Given the description of an element on the screen output the (x, y) to click on. 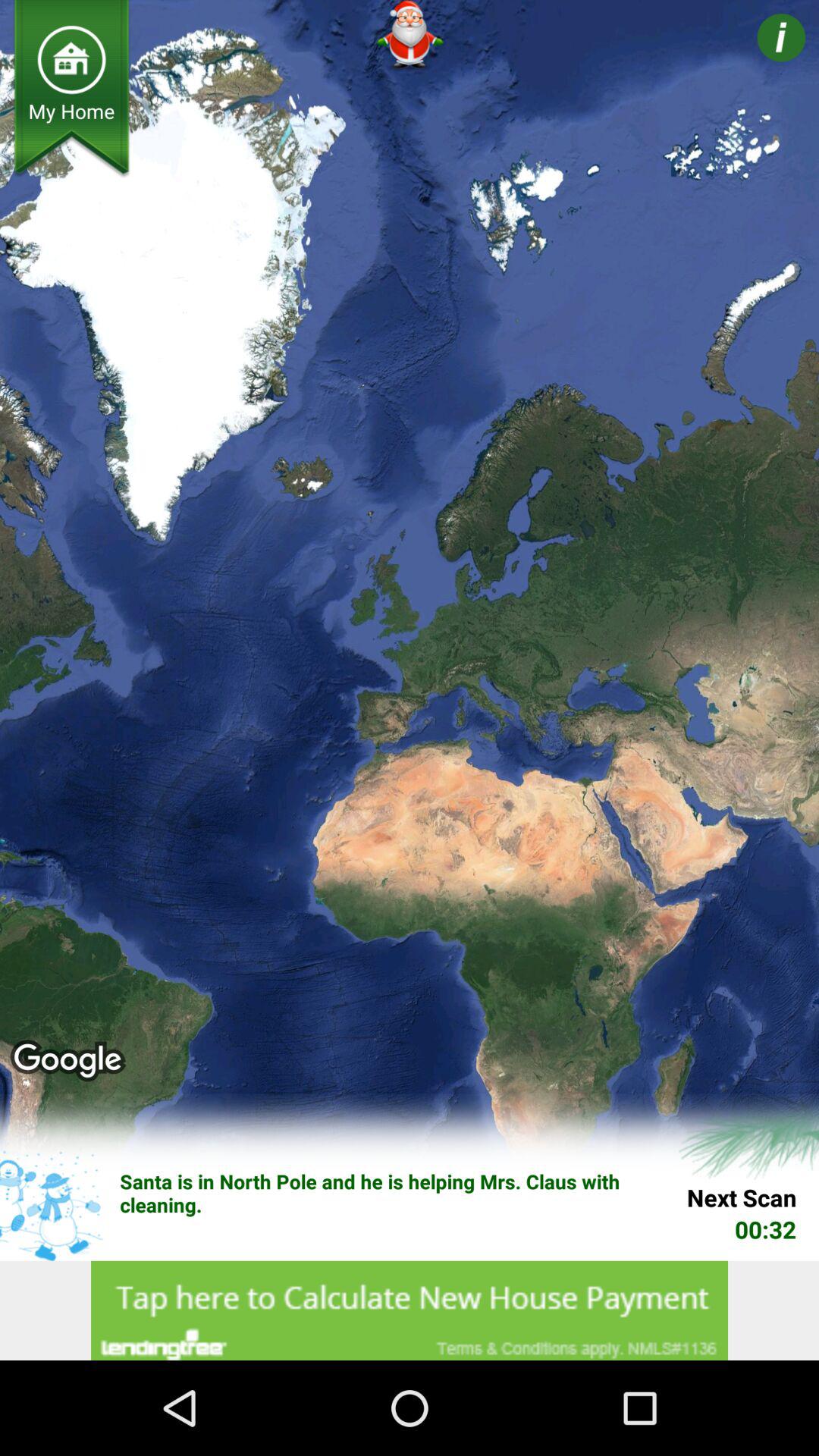
click home icon (71, 59)
